Given the description of an element on the screen output the (x, y) to click on. 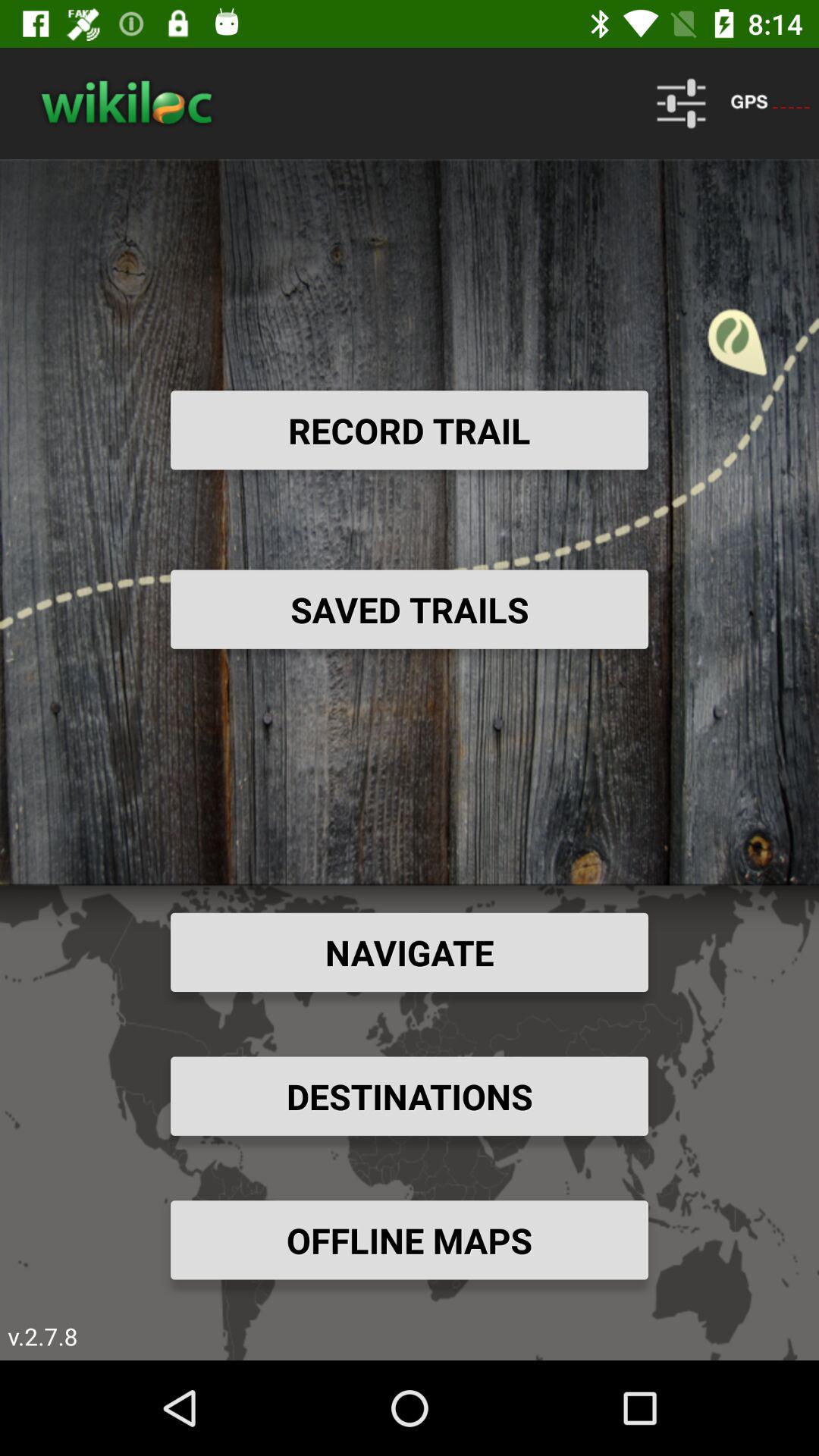
turn on the icon below the destinations icon (409, 1239)
